Given the description of an element on the screen output the (x, y) to click on. 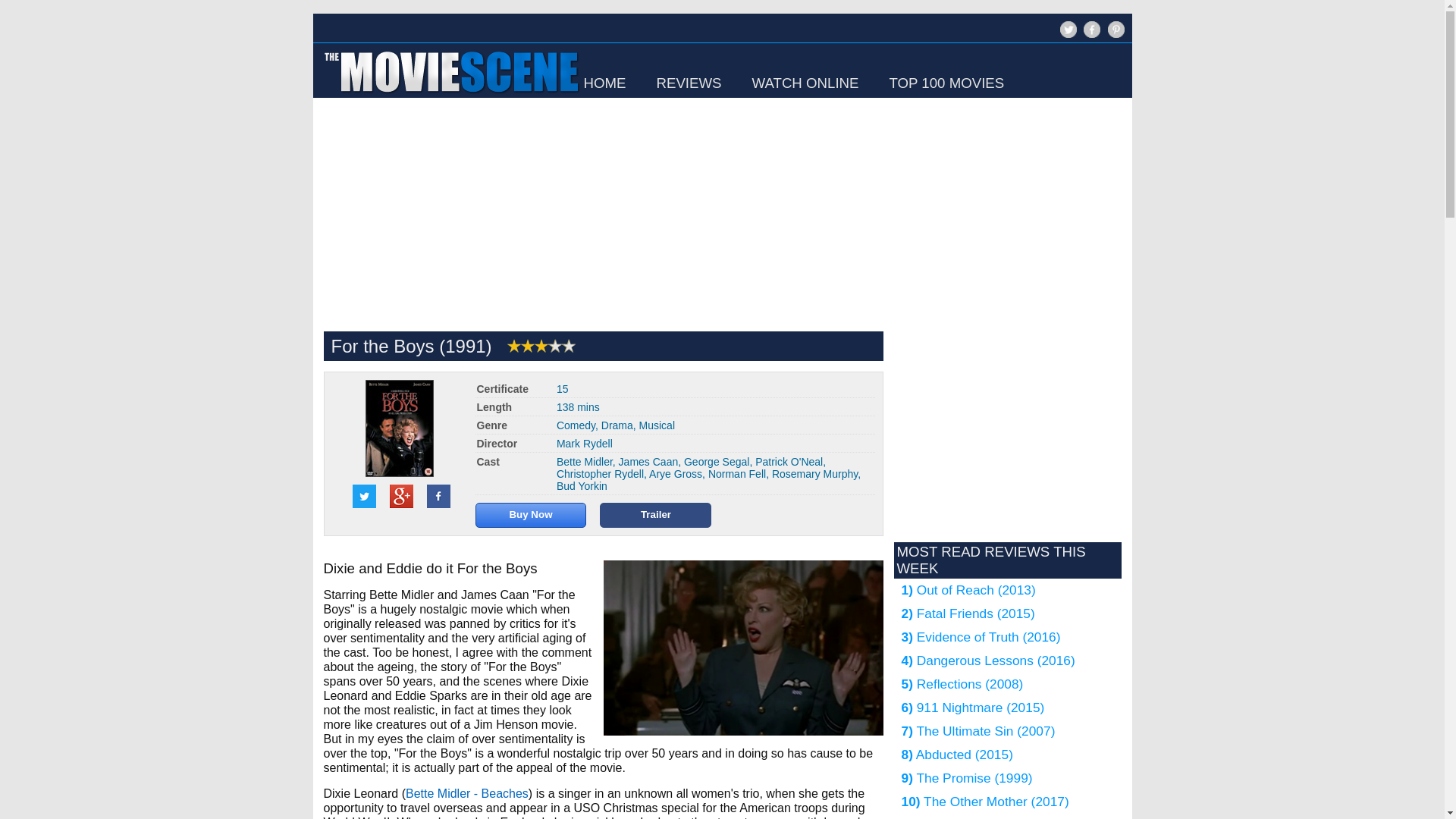
Norman Fell (736, 473)
Follow The Movie Scene on Twitter (1067, 37)
Trailer (654, 512)
Bette Midler - Beaches (467, 793)
WATCH ONLINE (805, 83)
HOME (604, 83)
Bette Midler (584, 461)
Follow The Movie Scene on Pinterest (1113, 37)
Like The Movie Scene on facebook (1090, 37)
